Given the description of an element on the screen output the (x, y) to click on. 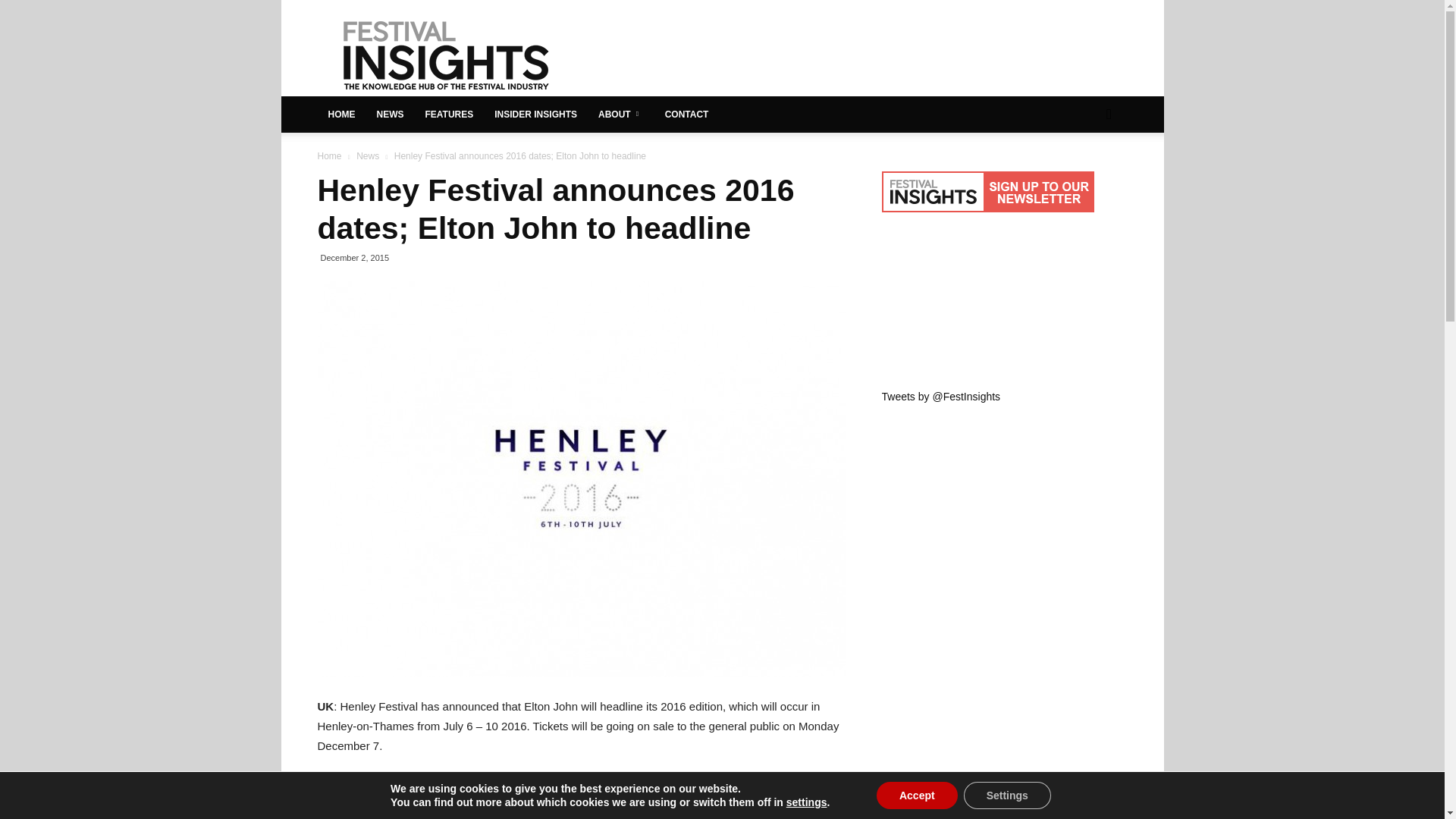
News (367, 155)
CONTACT (686, 114)
INSIDER INSIGHTS (535, 114)
FEATURES (448, 114)
View all posts in News (367, 155)
ABOUT (620, 114)
Home (328, 155)
HOME (341, 114)
The Knowledge Hub of the Festival Industry (445, 55)
